Given the description of an element on the screen output the (x, y) to click on. 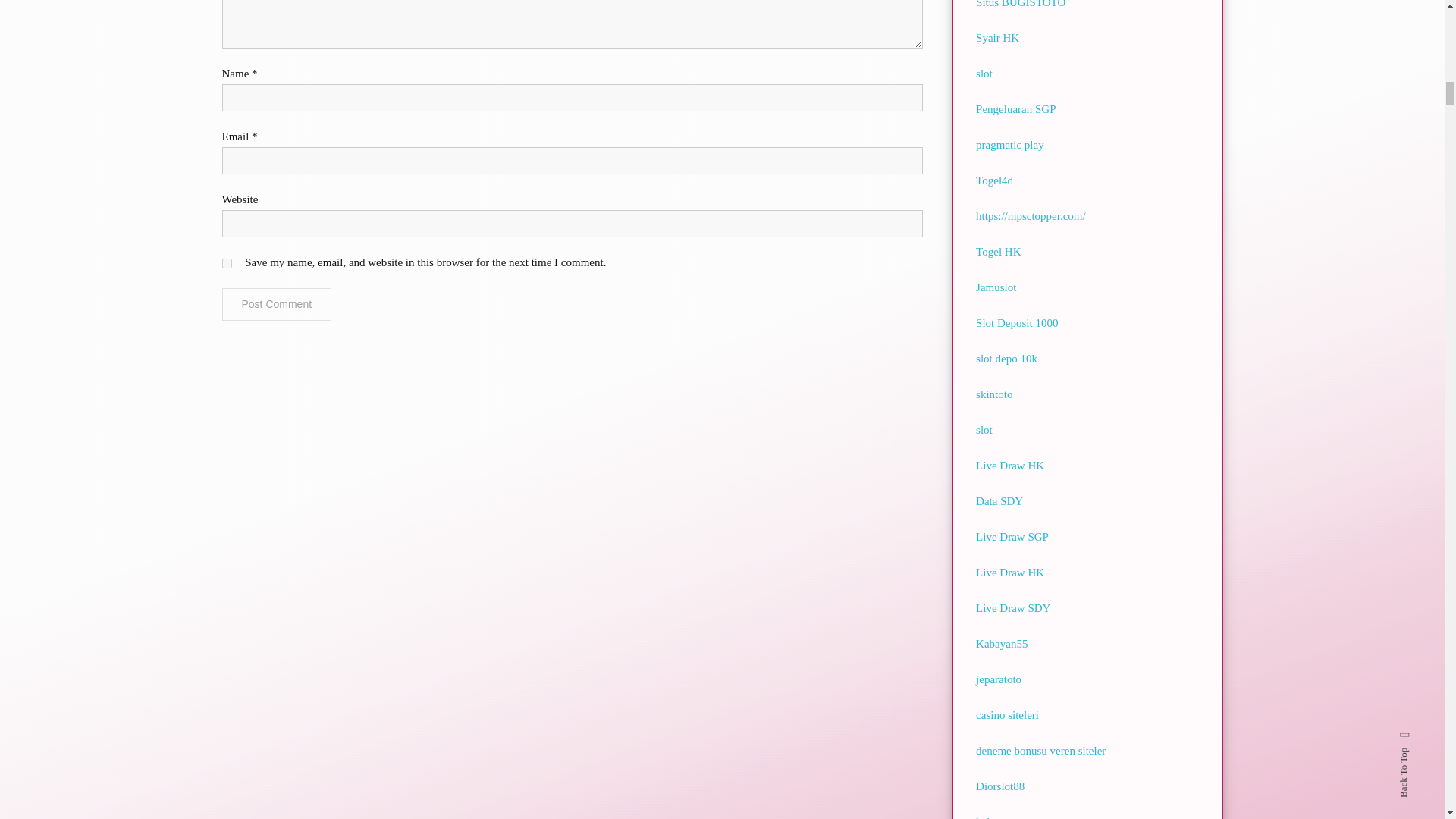
yes (226, 263)
Post Comment (276, 304)
Post Comment (276, 304)
